Given the description of an element on the screen output the (x, y) to click on. 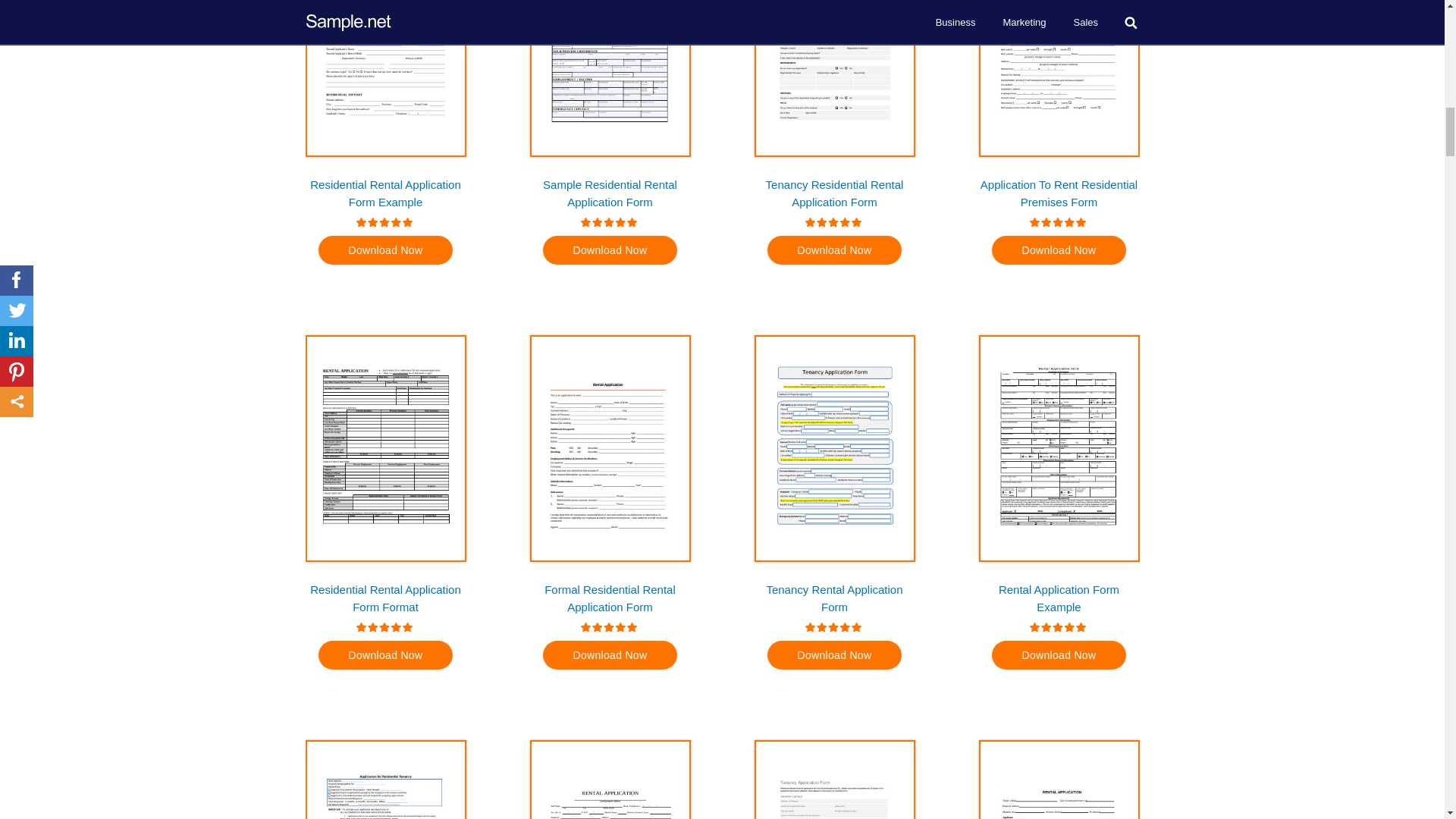
Application To Rent Residential Premises Form (1058, 192)
Download Now (610, 249)
Download Now (385, 249)
Sample Residential Rental Application Form (609, 192)
Download Now (1058, 249)
Tenancy Residential Rental Application Form (834, 192)
Residential Rental Application Form Example (384, 192)
Download Now (834, 249)
